Given the description of an element on the screen output the (x, y) to click on. 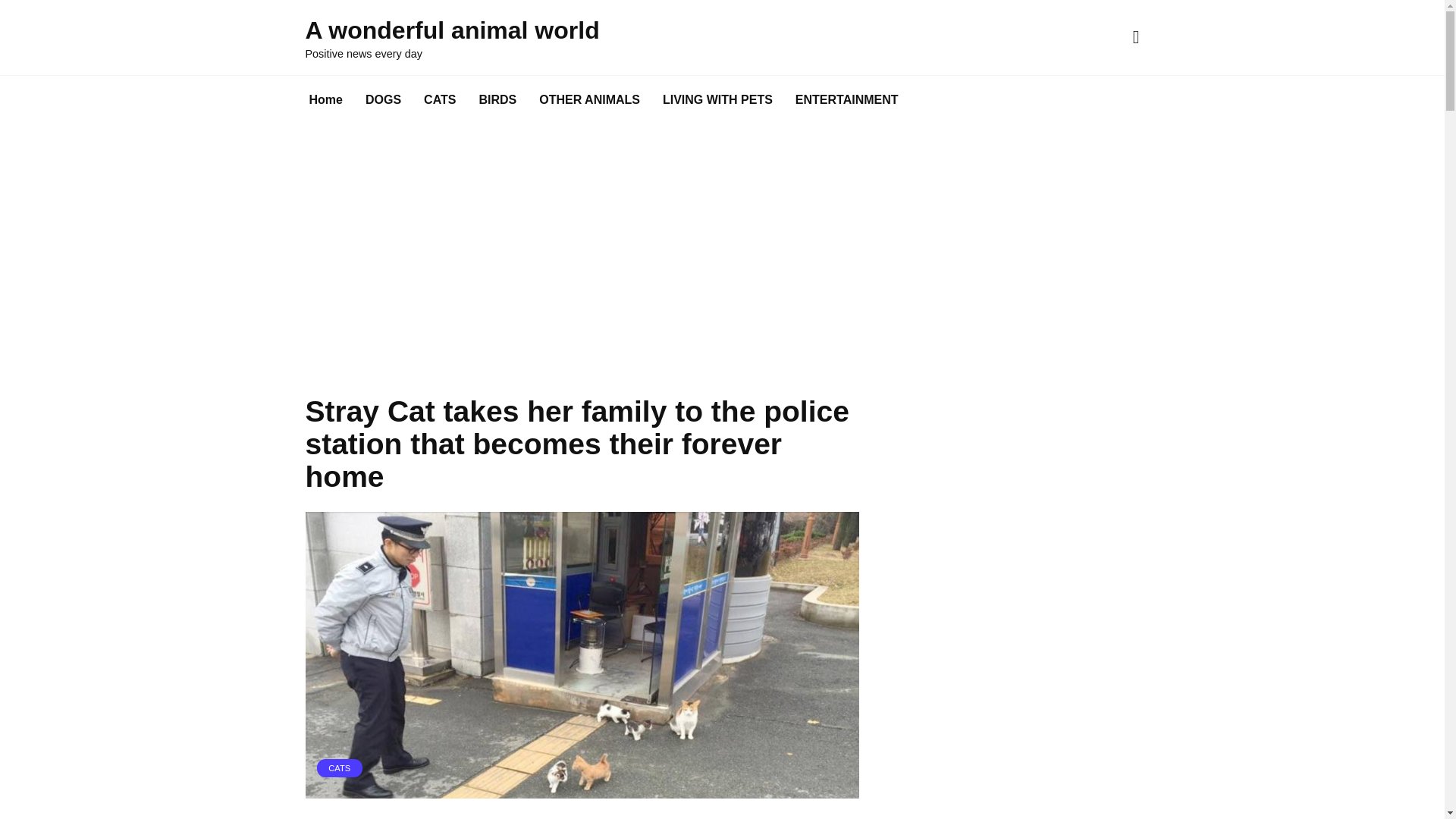
ENTERTAINMENT (847, 100)
A wonderful animal world (451, 30)
CATS (439, 100)
DOGS (382, 100)
BIRDS (497, 100)
Home (325, 100)
LIVING WITH PETS (717, 100)
OTHER ANIMALS (588, 100)
CATS (339, 768)
